Given the description of an element on the screen output the (x, y) to click on. 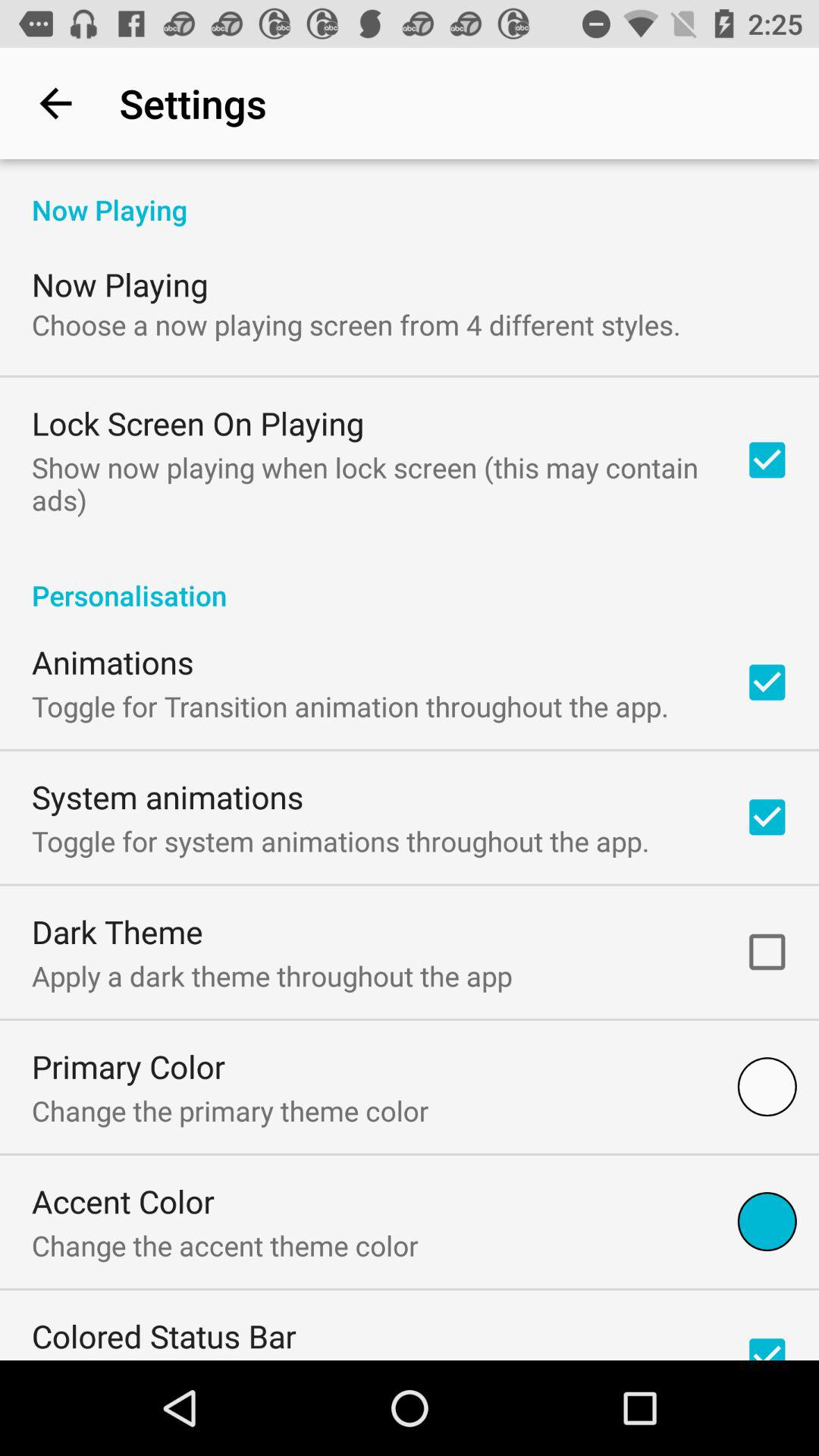
turn on icon below the change the accent (163, 1335)
